Given the description of an element on the screen output the (x, y) to click on. 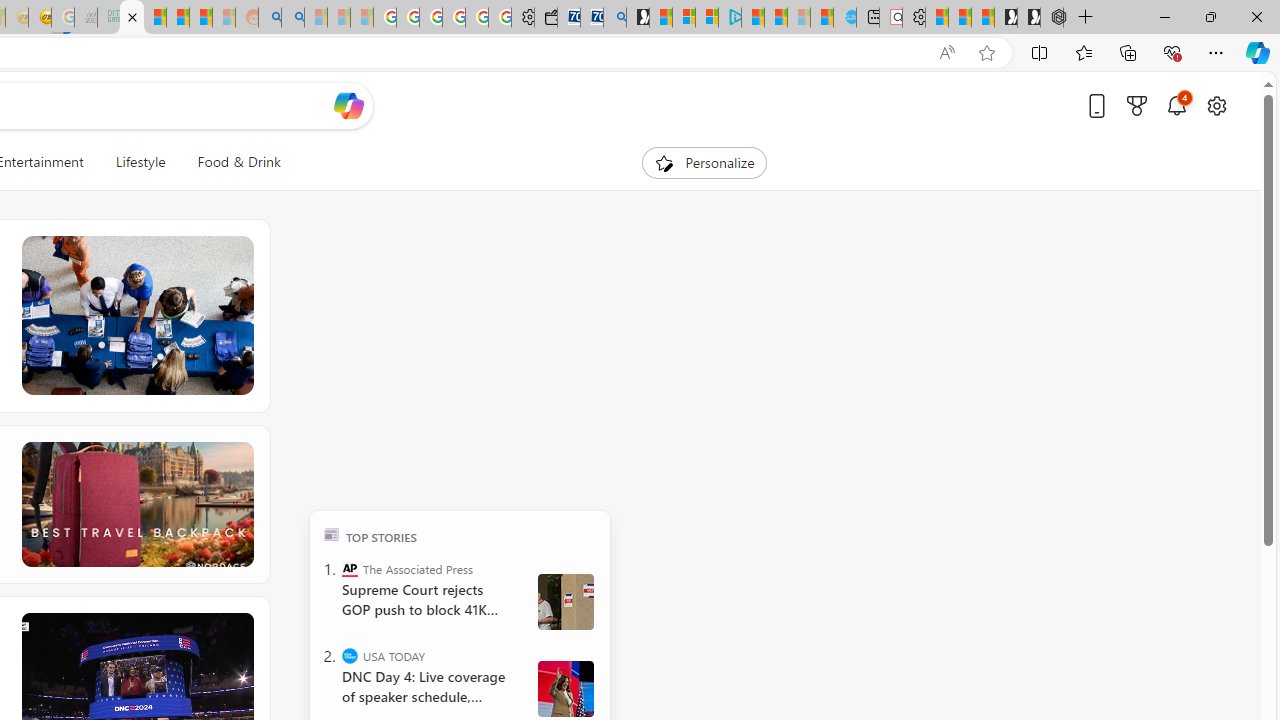
Student Loan Update: Forgiveness Program Ends This Month (200, 17)
